Given the description of an element on the screen output the (x, y) to click on. 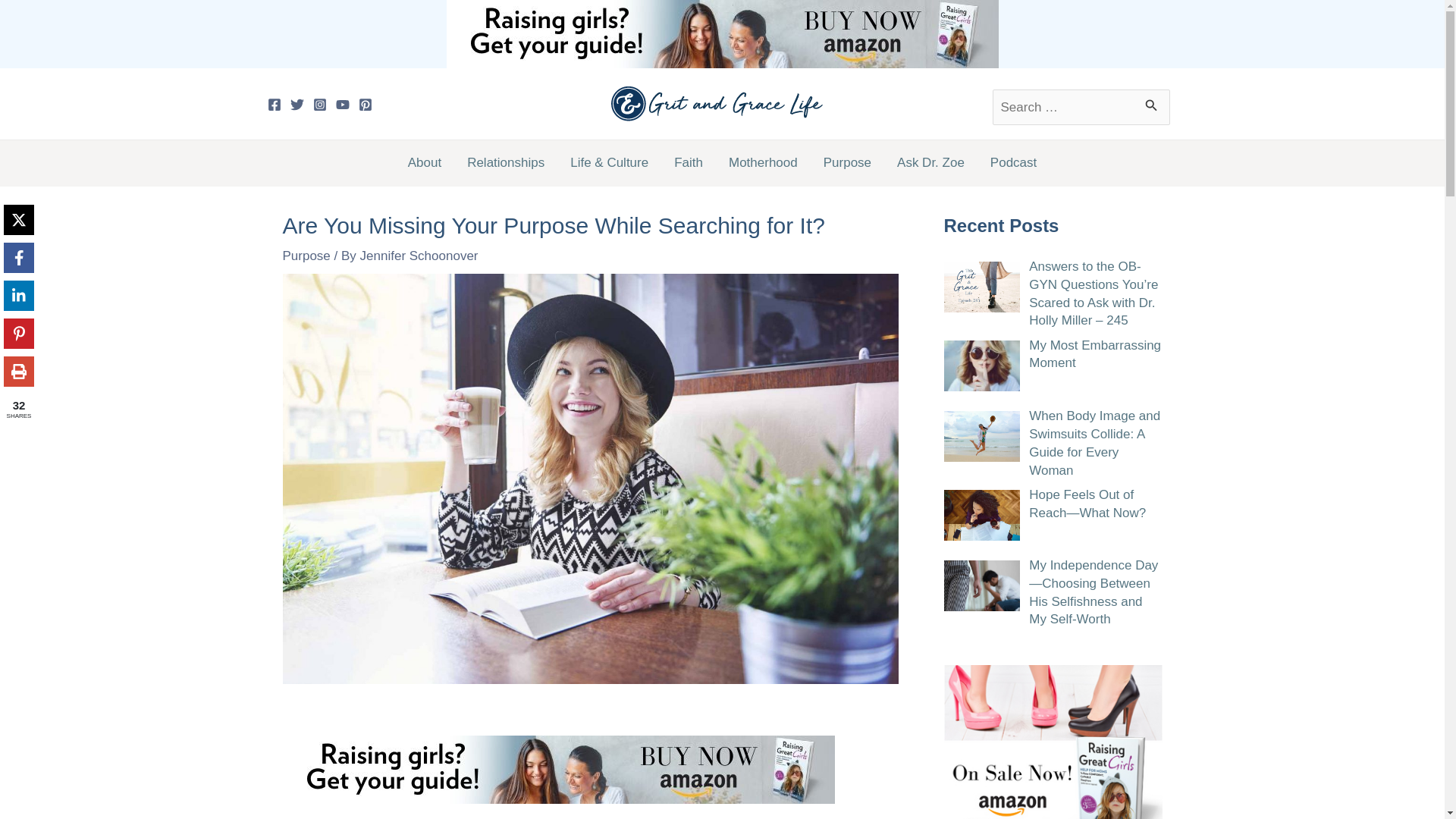
Search (1152, 92)
View all posts by Jennifer Schoonover (419, 255)
About (424, 162)
Search (1152, 92)
Ask Dr. Zoe (929, 162)
Podcast (1012, 162)
Relationships (505, 162)
Motherhood (763, 162)
Search (1152, 92)
Faith (688, 162)
Purpose (846, 162)
Jennifer Schoonover (419, 255)
Purpose (306, 255)
